Given the description of an element on the screen output the (x, y) to click on. 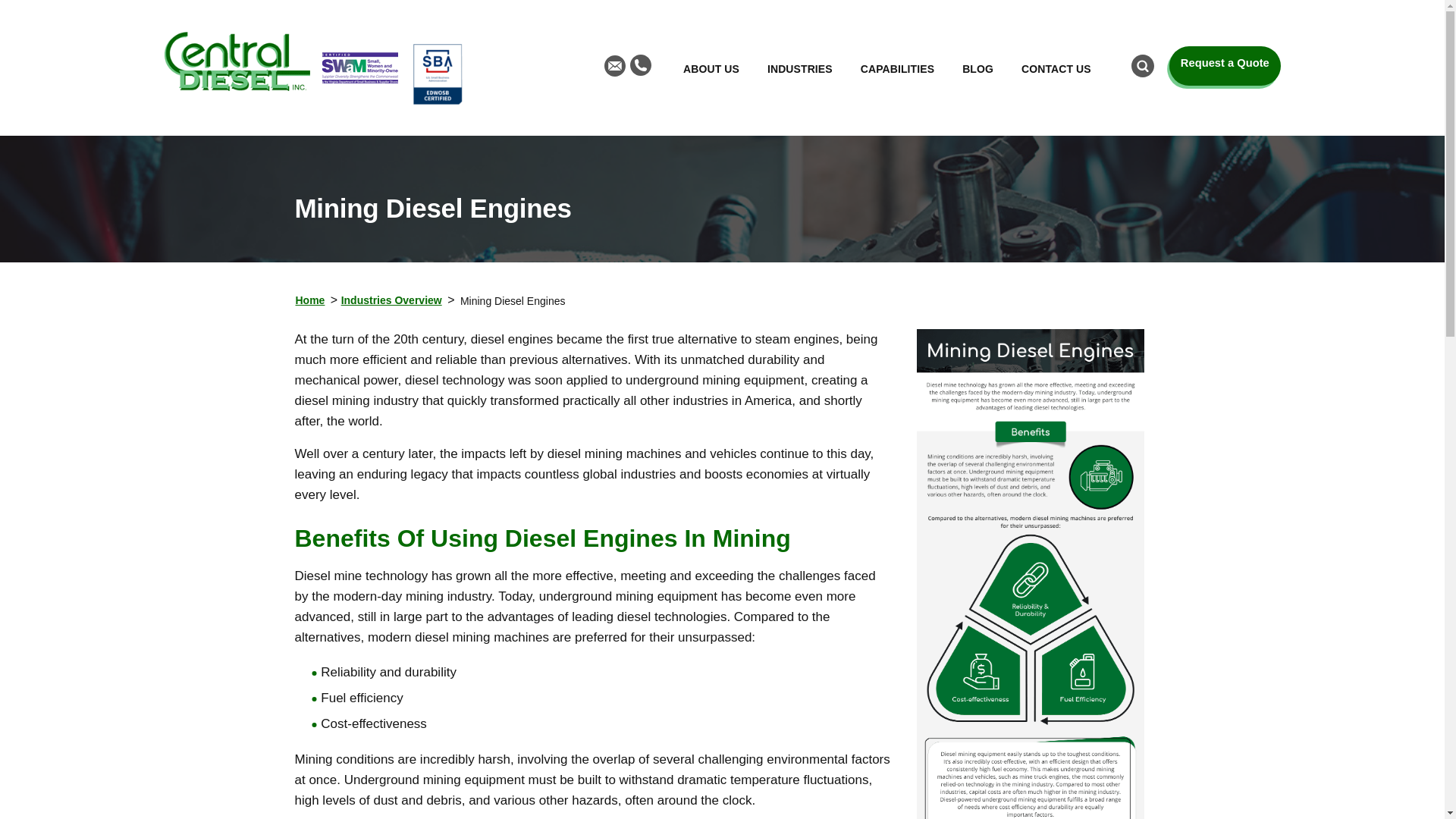
Central Diesel Inc. (235, 60)
ABOUT US (711, 66)
INDUSTRIES (799, 66)
BLOG (977, 66)
CAPABILITIES (897, 66)
EDWOSB (438, 74)
Mining Diesel Engines (1028, 574)
Swam (359, 67)
CONTACT US (1055, 66)
